Given the description of an element on the screen output the (x, y) to click on. 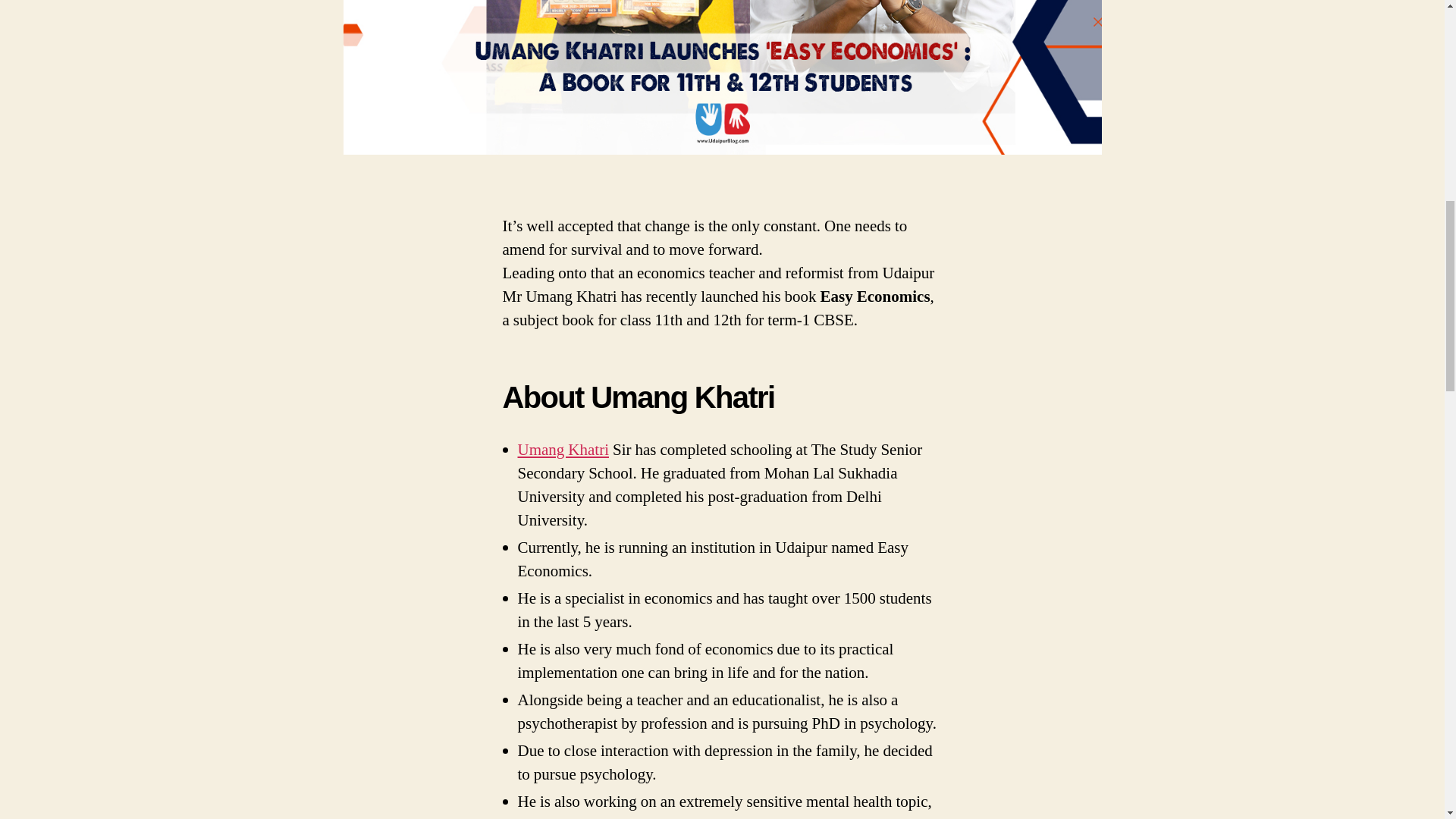
Umang Khatri (562, 449)
